Given the description of an element on the screen output the (x, y) to click on. 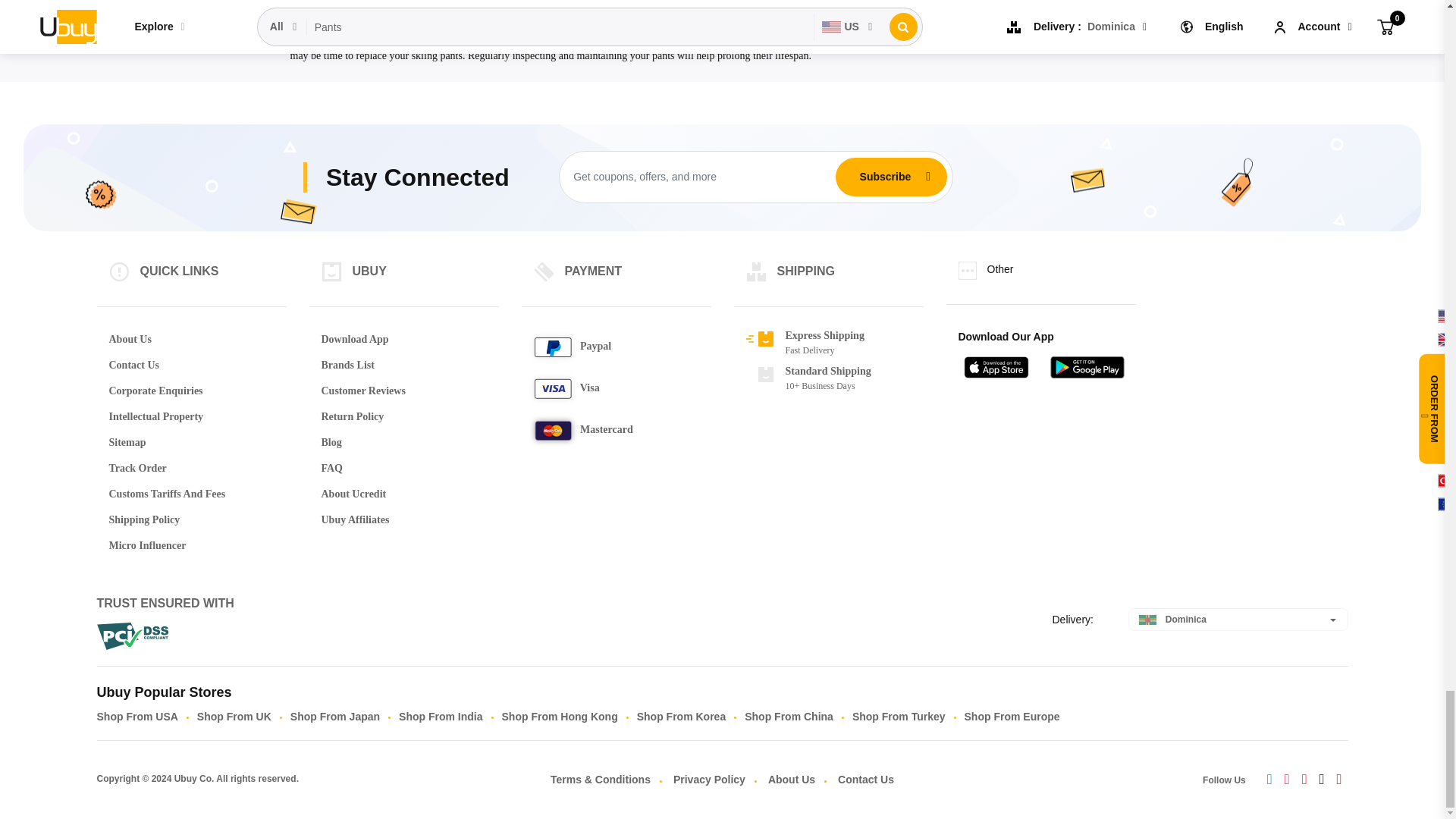
Subscribe (885, 176)
